Given the description of an element on the screen output the (x, y) to click on. 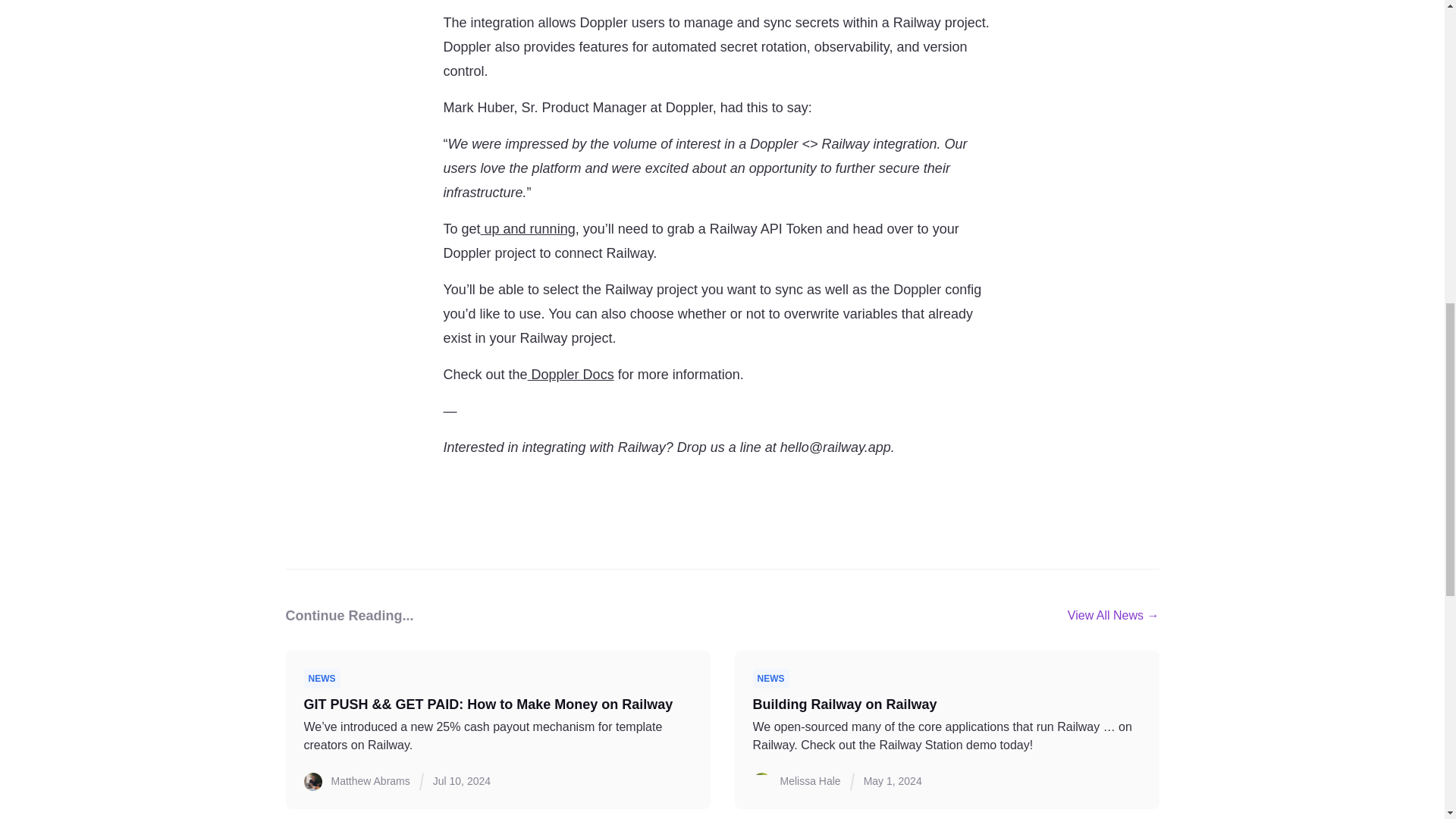
up and running (527, 228)
Doppler Docs (570, 374)
